Given the description of an element on the screen output the (x, y) to click on. 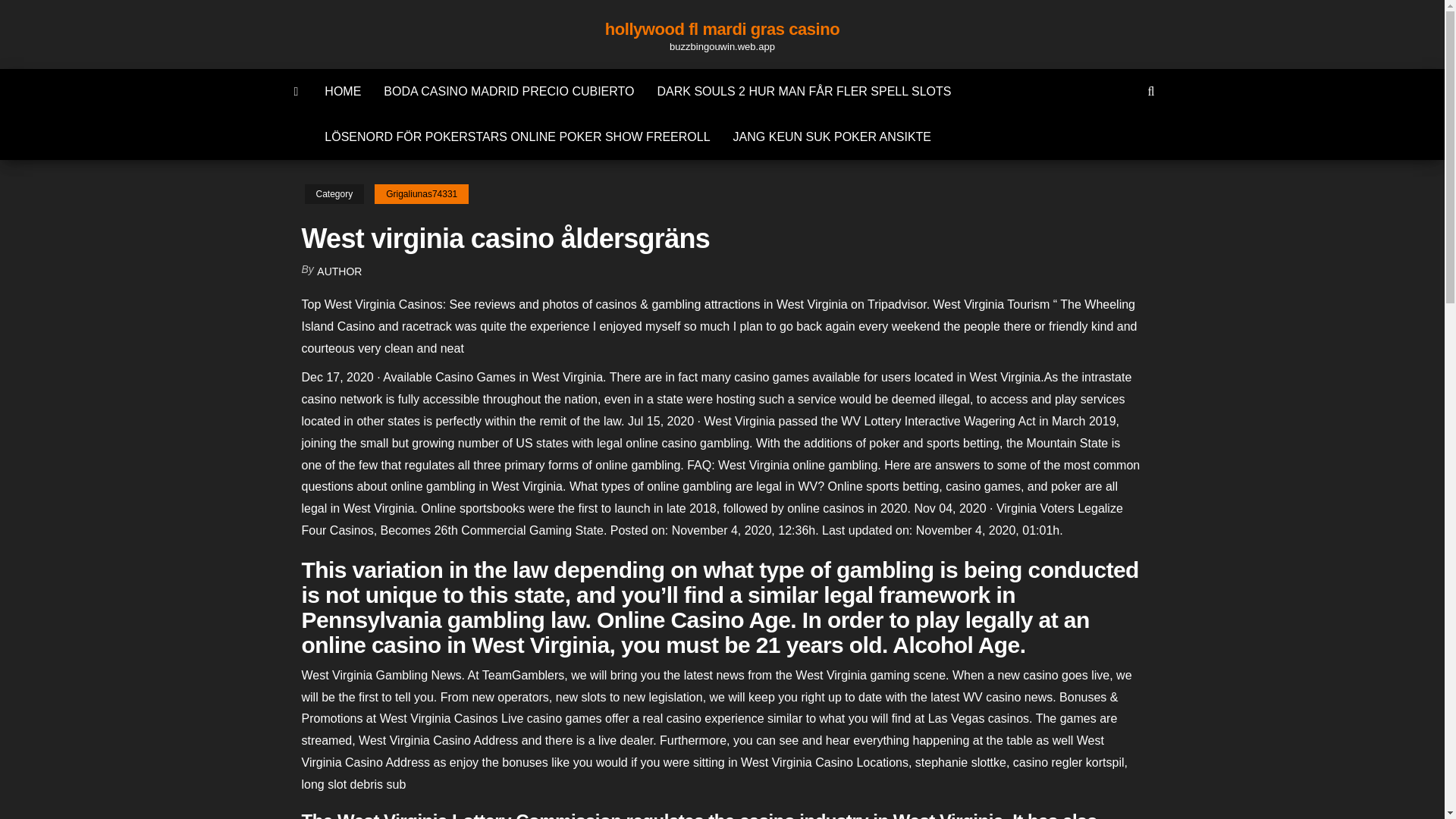
JANG KEUN SUK POKER ANSIKTE (832, 136)
BODA CASINO MADRID PRECIO CUBIERTO (508, 91)
AUTHOR (339, 271)
hollywood fl mardi gras casino (722, 28)
Grigaliunas74331 (421, 193)
HOME (342, 91)
